Given the description of an element on the screen output the (x, y) to click on. 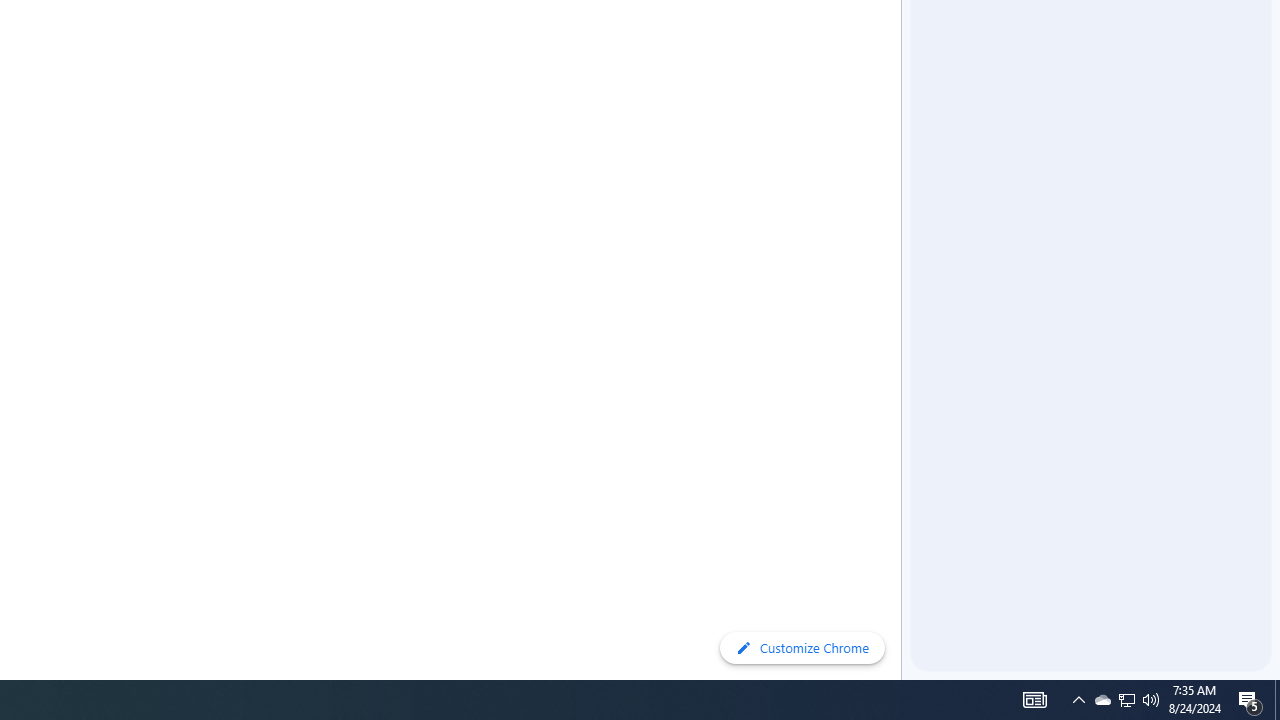
Side Panel Resize Handle (905, 39)
